Given the description of an element on the screen output the (x, y) to click on. 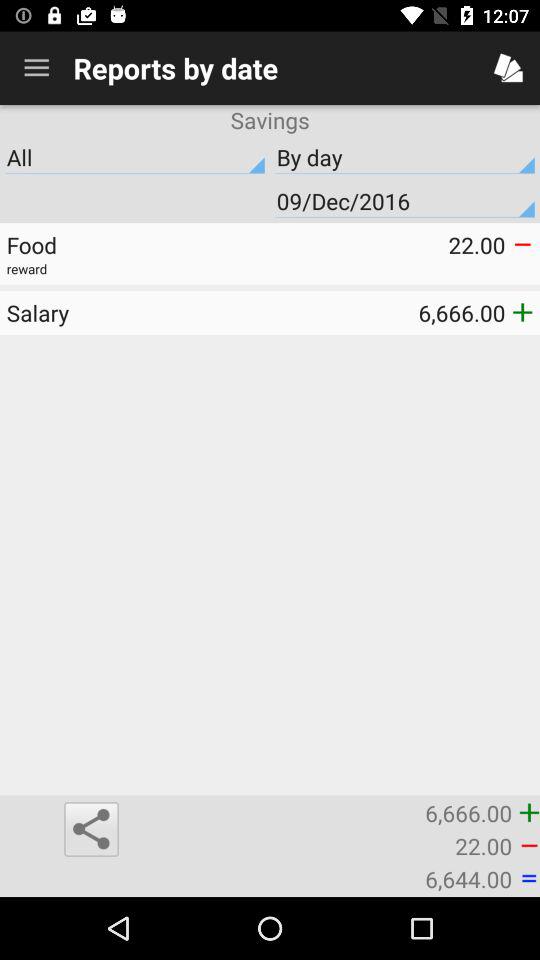
choose the item next to all icon (405, 201)
